Given the description of an element on the screen output the (x, y) to click on. 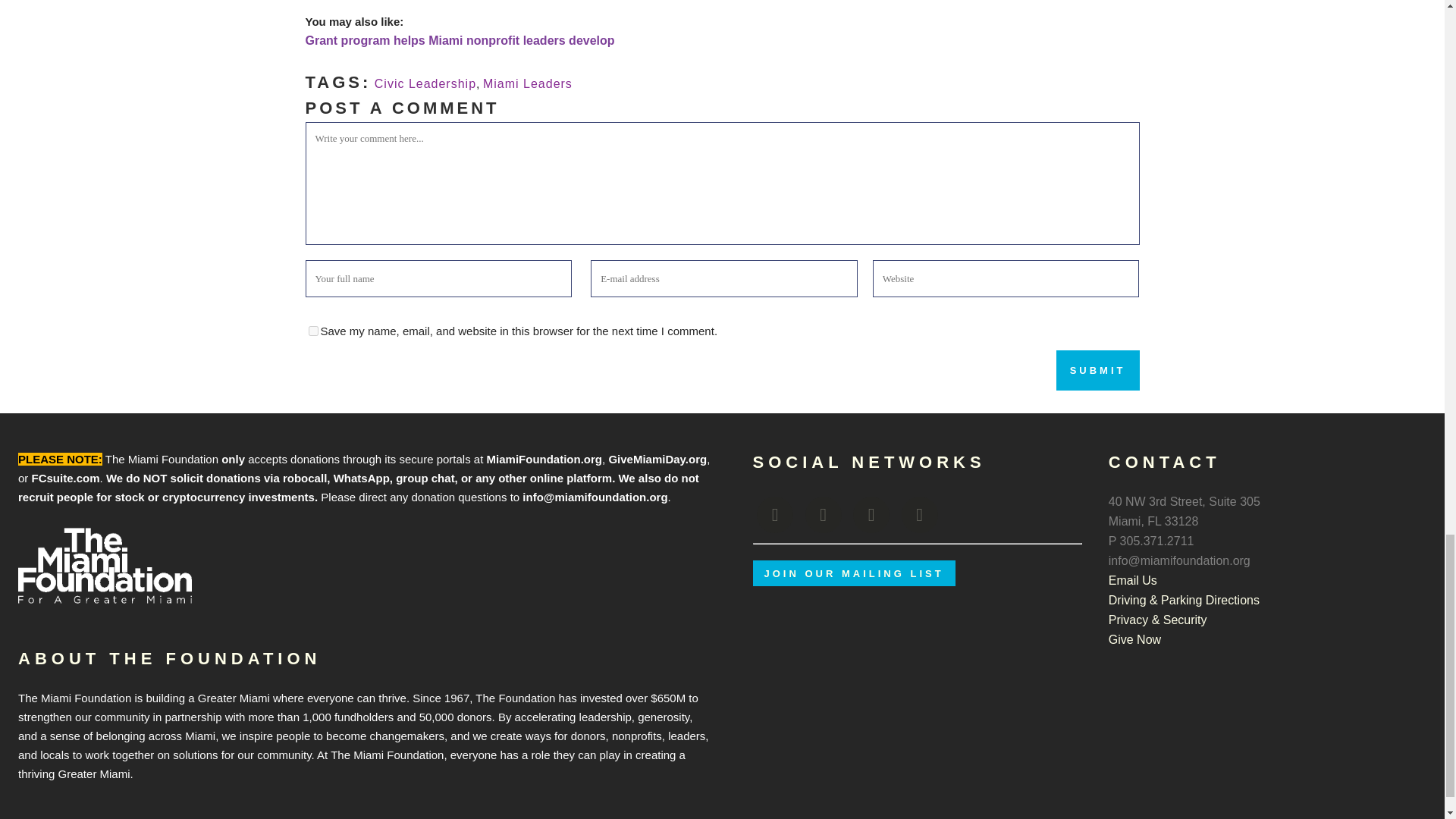
Submit (1098, 370)
yes (312, 330)
